Given the description of an element on the screen output the (x, y) to click on. 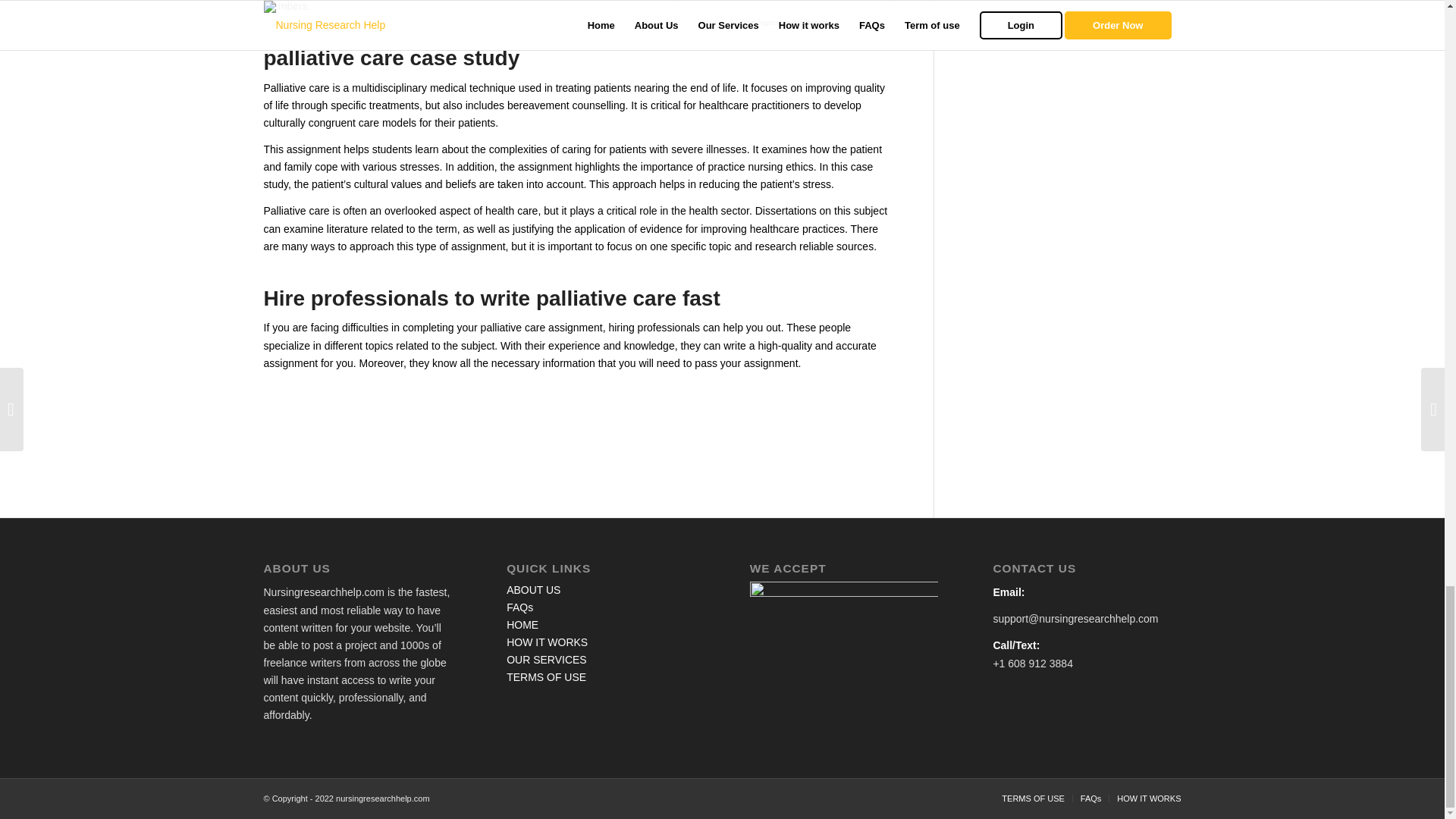
FAQs (519, 607)
ABOUT US (533, 589)
HOME (522, 624)
HOW IT WORKS (547, 642)
FAQs (1091, 798)
TERMS OF USE (1032, 798)
HOW IT WORKS (1148, 798)
TERMS OF USE (546, 676)
OUR SERVICES (546, 659)
